Given the description of an element on the screen output the (x, y) to click on. 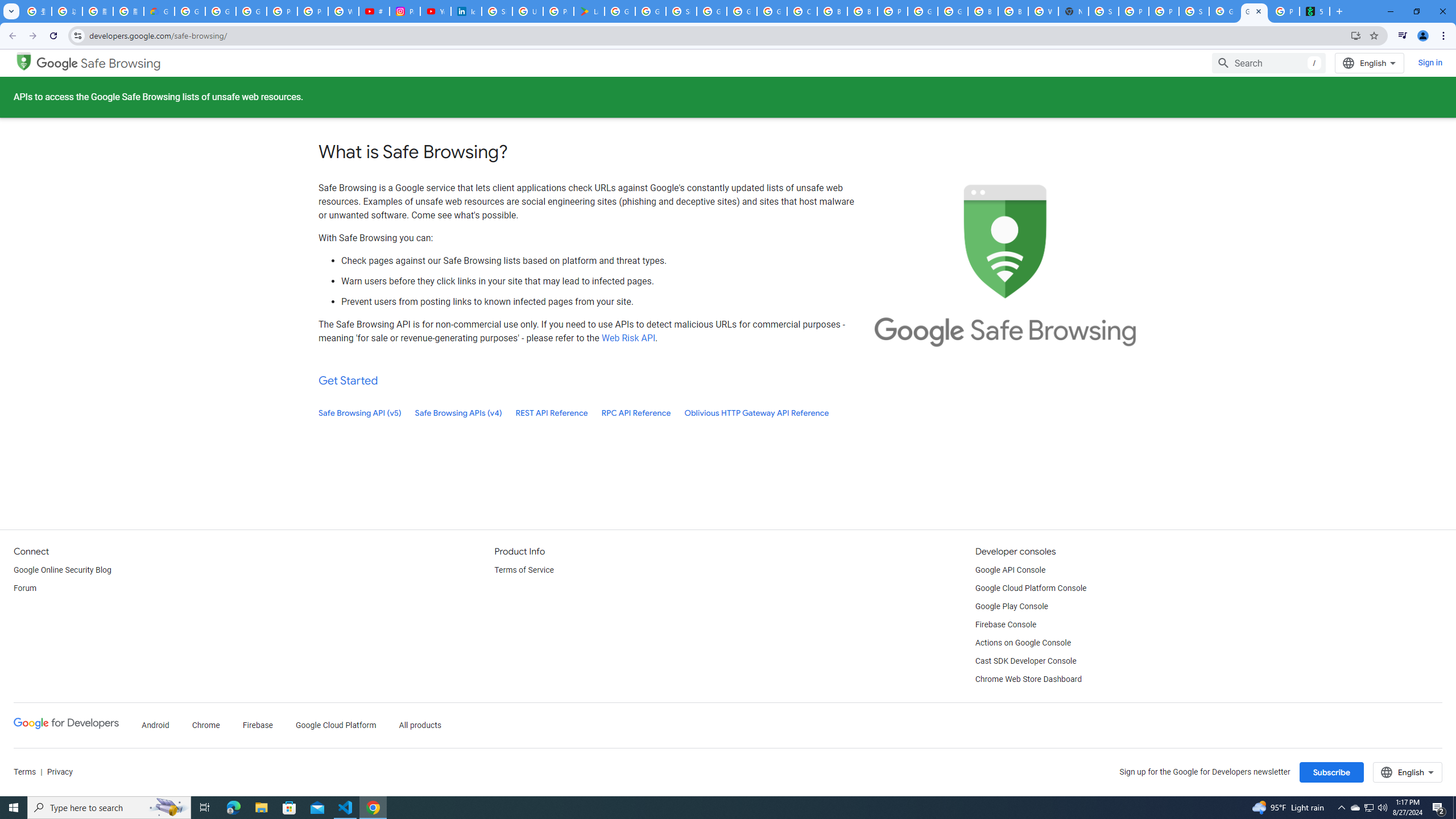
English (1407, 772)
Google (57, 63)
Last Shelter: Survival - Apps on Google Play (589, 11)
